Given the description of an element on the screen output the (x, y) to click on. 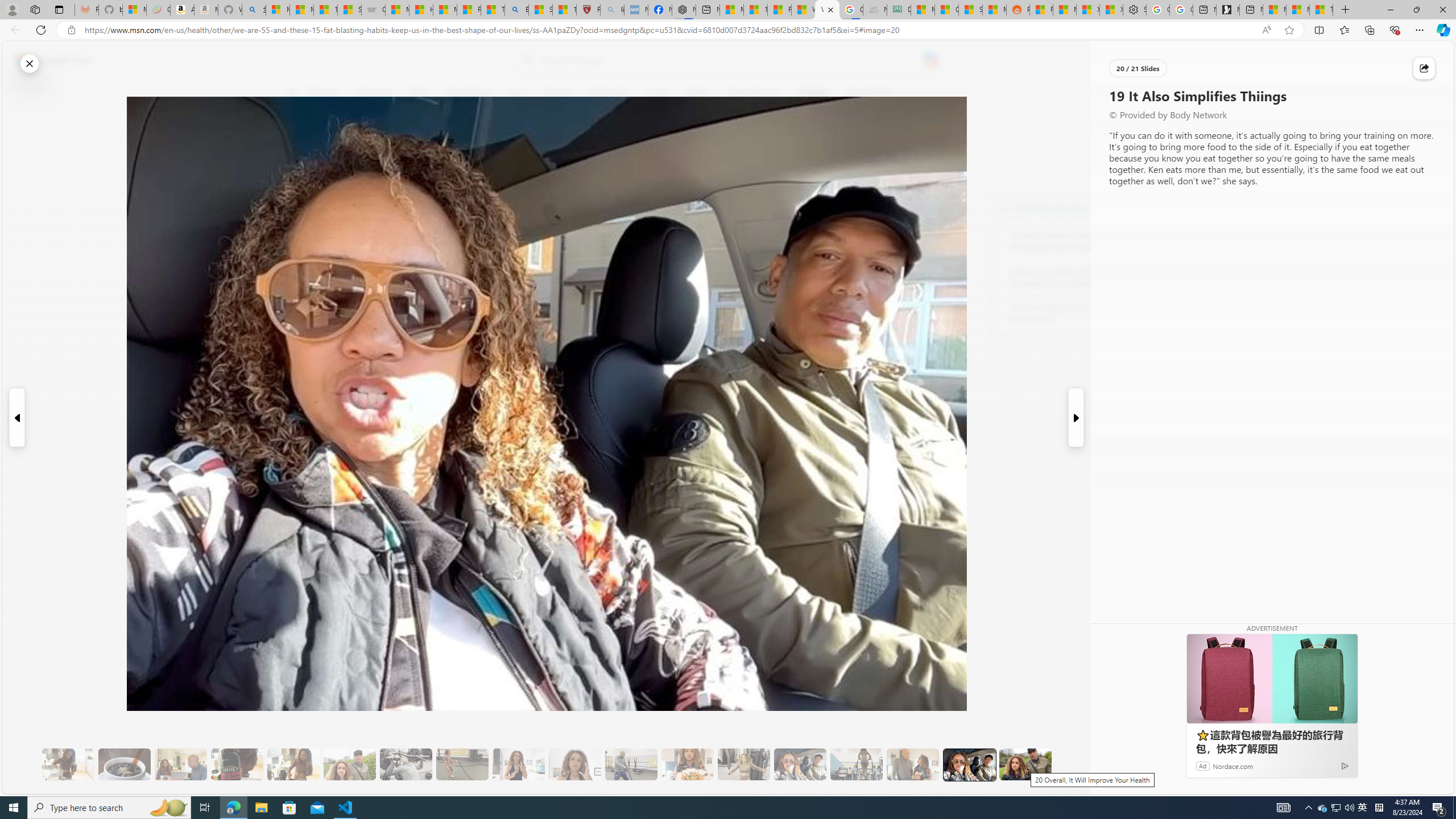
5 She Eats Less Than Her Husband (180, 764)
Enter your search term (730, 59)
Entertainment (753, 92)
18 It's More Fun Doing It with Someone Else (912, 764)
Start the conversation (299, 202)
3 They Drink Lemon Tea (68, 764)
8 They Walk to the Gym (349, 764)
Open Copilot (930, 59)
15 They Also Indulge in a Low-Calorie Sweet Treat (743, 764)
